Given the description of an element on the screen output the (x, y) to click on. 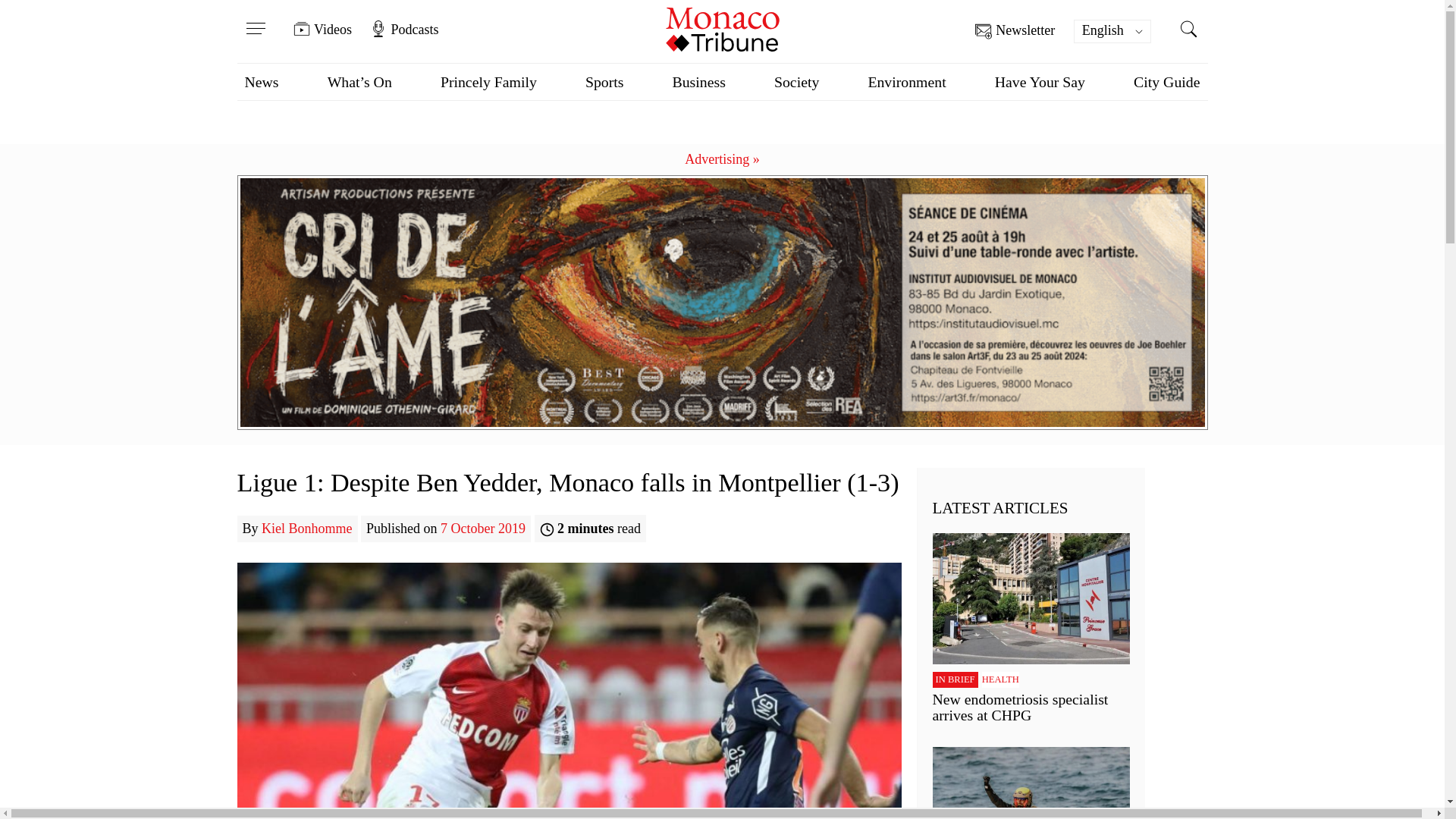
News (261, 81)
English (1112, 31)
Videos (323, 28)
Podcasts (403, 28)
Newsletter (1014, 31)
